Given the description of an element on the screen output the (x, y) to click on. 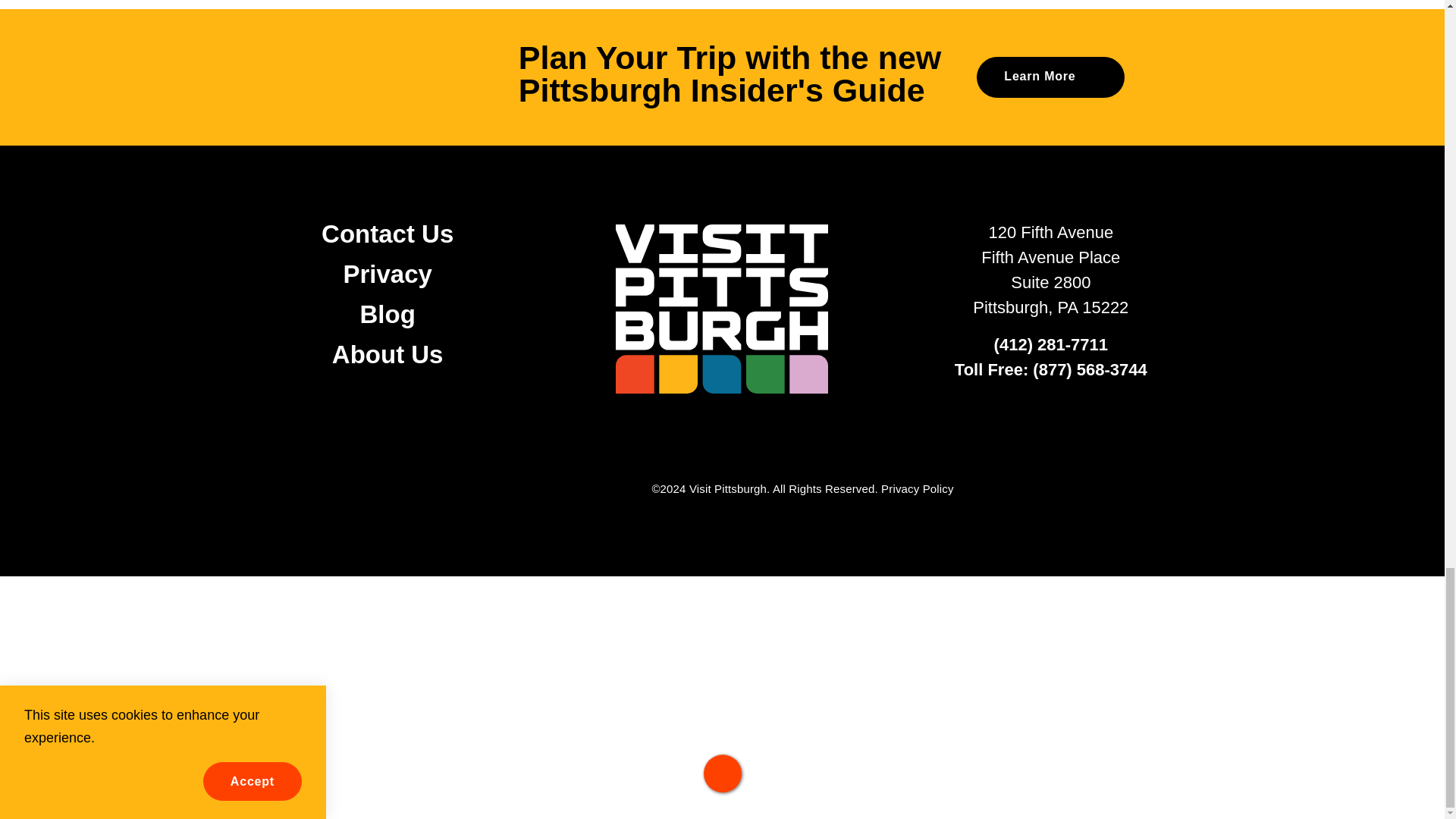
Blog (386, 314)
Privacy Policy (916, 488)
Contact Us (386, 234)
About Us (387, 354)
Plan Your Trip with the new Pittsburgh Insider's Guide (721, 77)
Learn More (1050, 76)
Privacy (386, 274)
